Given the description of an element on the screen output the (x, y) to click on. 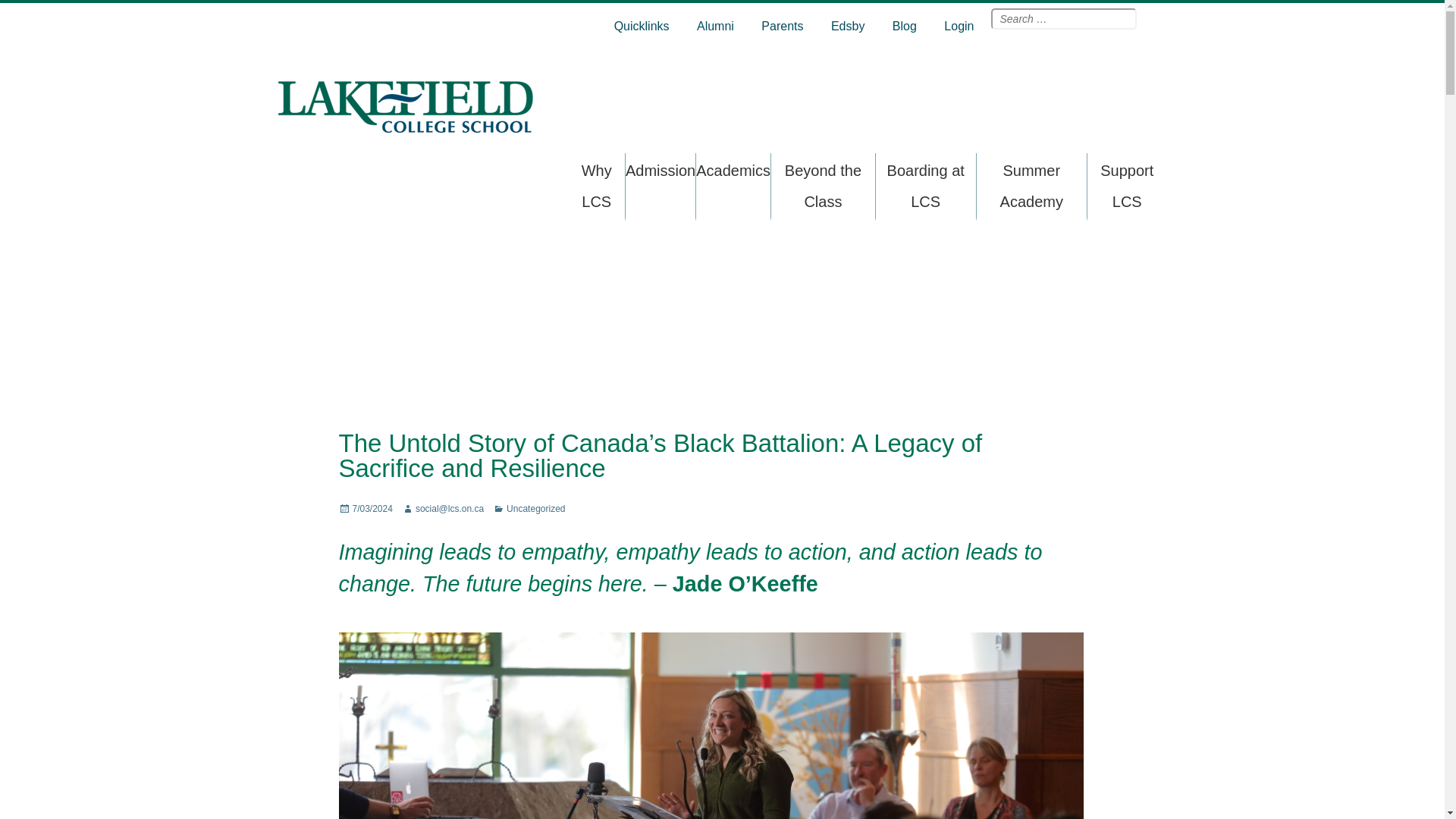
Edsby (848, 25)
Parents (782, 25)
Login (958, 25)
Search (1145, 17)
Quicklinks (641, 25)
Search (1145, 17)
Admission (660, 170)
Alumni (714, 25)
Blog (904, 25)
Academics (732, 170)
Search (1145, 17)
